Given the description of an element on the screen output the (x, y) to click on. 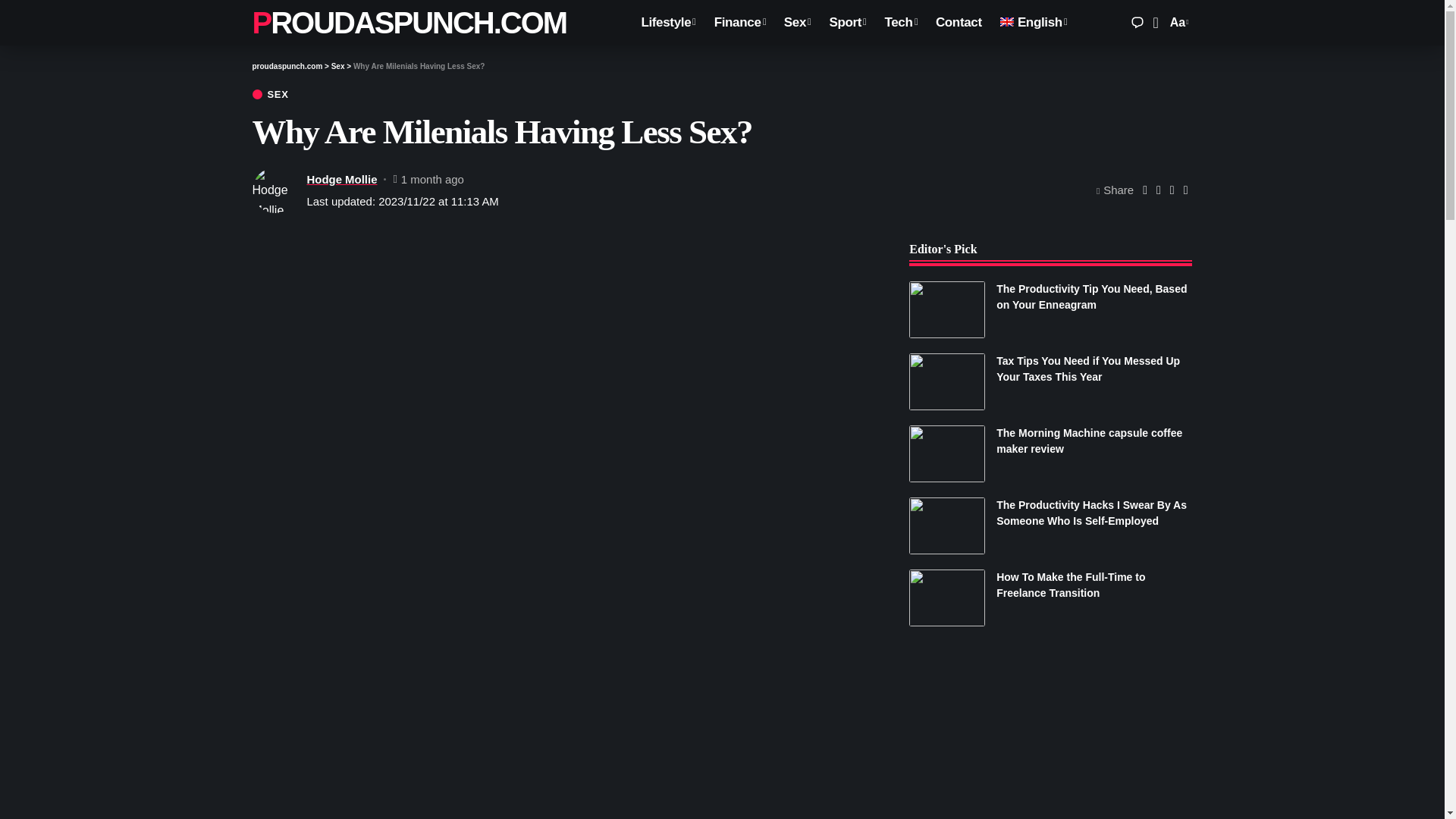
Sex (797, 22)
Lifestyle (667, 22)
Finance (739, 22)
PROUDASPUNCH.COM (408, 22)
proudaspunch.com (408, 22)
